Given the description of an element on the screen output the (x, y) to click on. 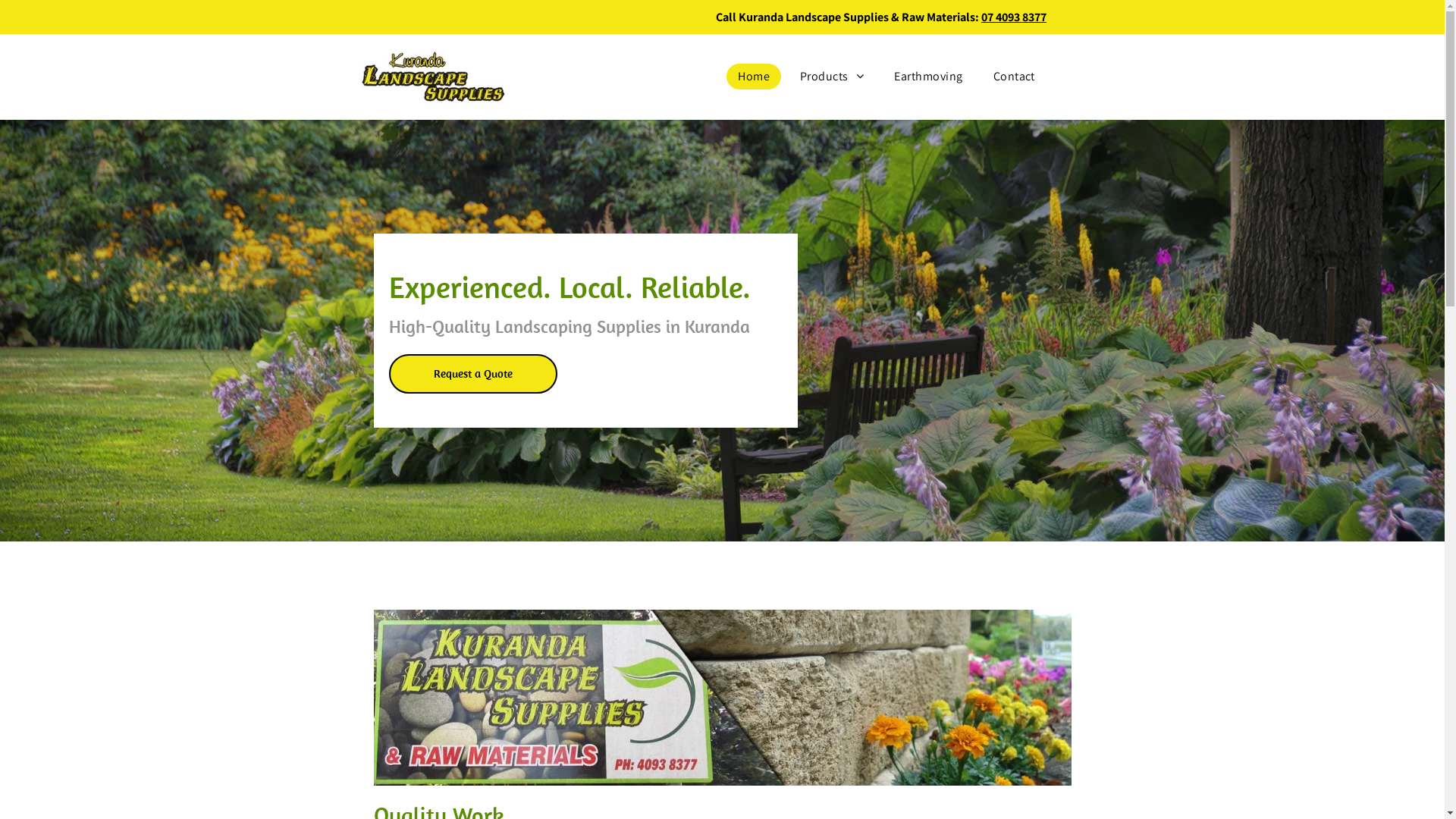
Home Element type: text (753, 76)
Request a Quote Element type: text (472, 373)
Earthmoving Element type: text (927, 76)
07 4093 8377 Element type: text (1013, 17)
Contact Element type: text (1014, 76)
Products Element type: text (831, 76)
